Given the description of an element on the screen output the (x, y) to click on. 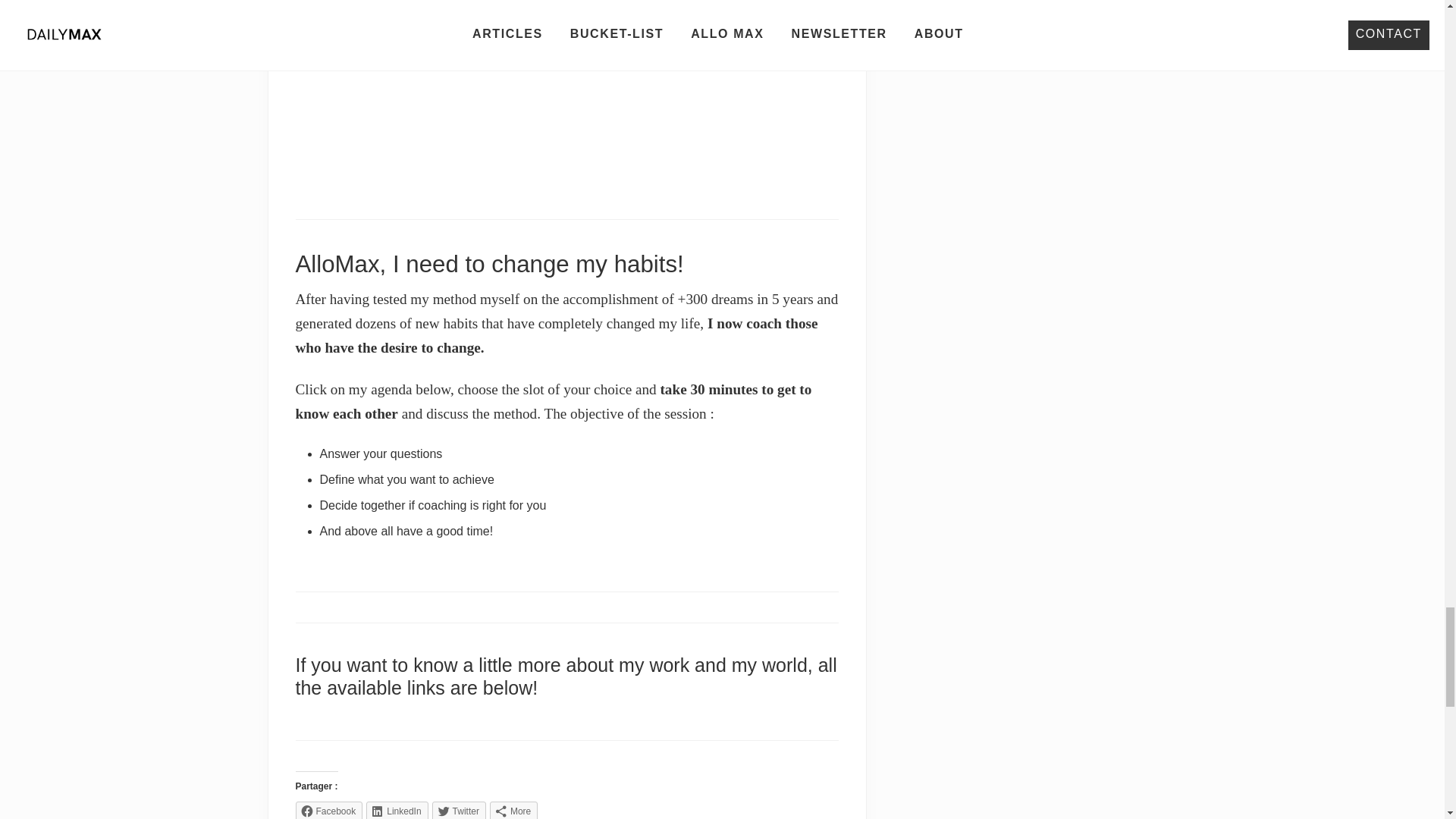
Click to share on LinkedIn (397, 810)
Click to share on Facebook (328, 810)
Click to share on Twitter (459, 810)
